Given the description of an element on the screen output the (x, y) to click on. 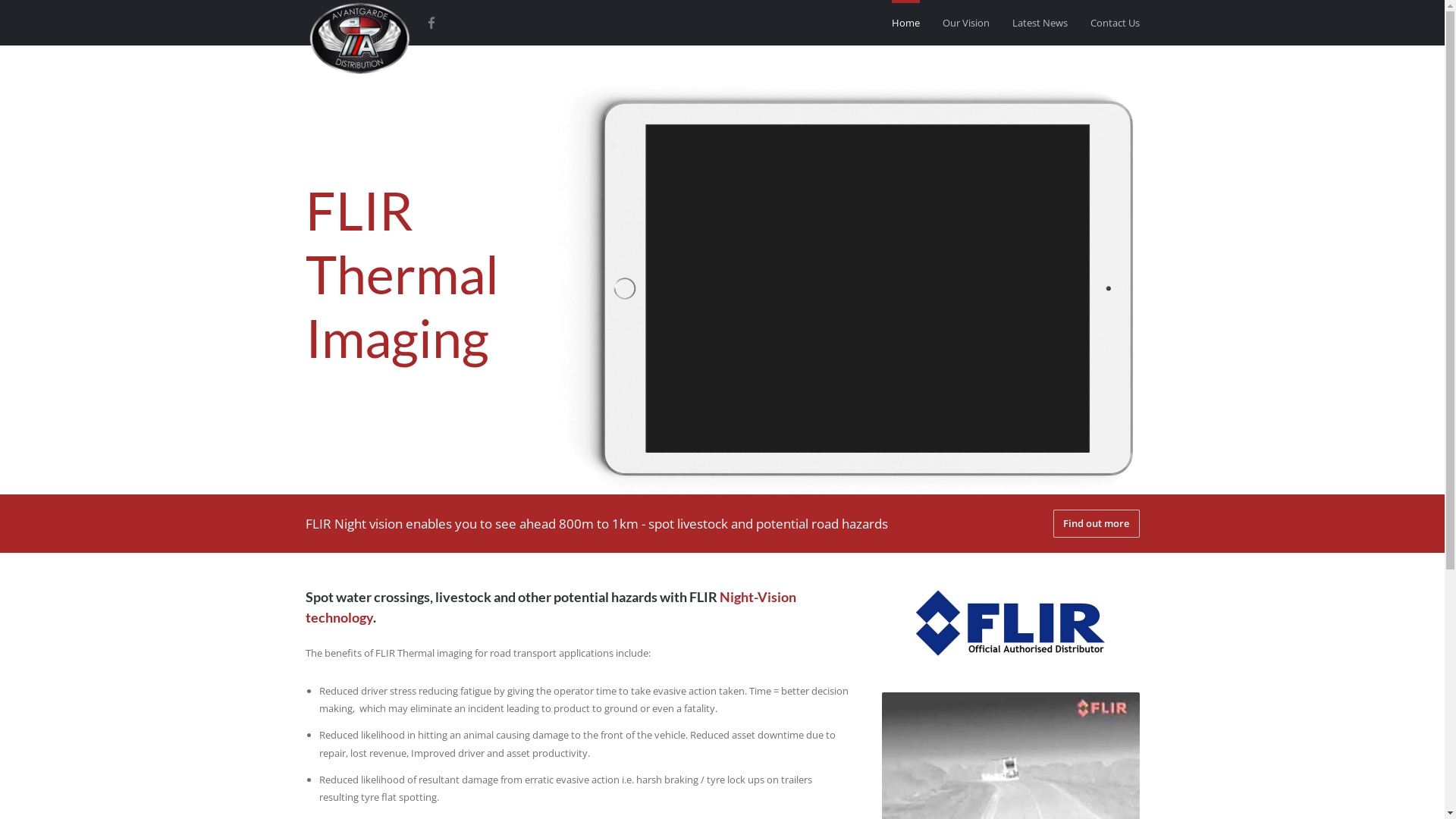
Latest News Element type: text (1038, 22)
Home Element type: text (905, 22)
Find out more Element type: text (1096, 523)
Contact Us Element type: text (1114, 22)
Our Vision Element type: text (964, 22)
